Given the description of an element on the screen output the (x, y) to click on. 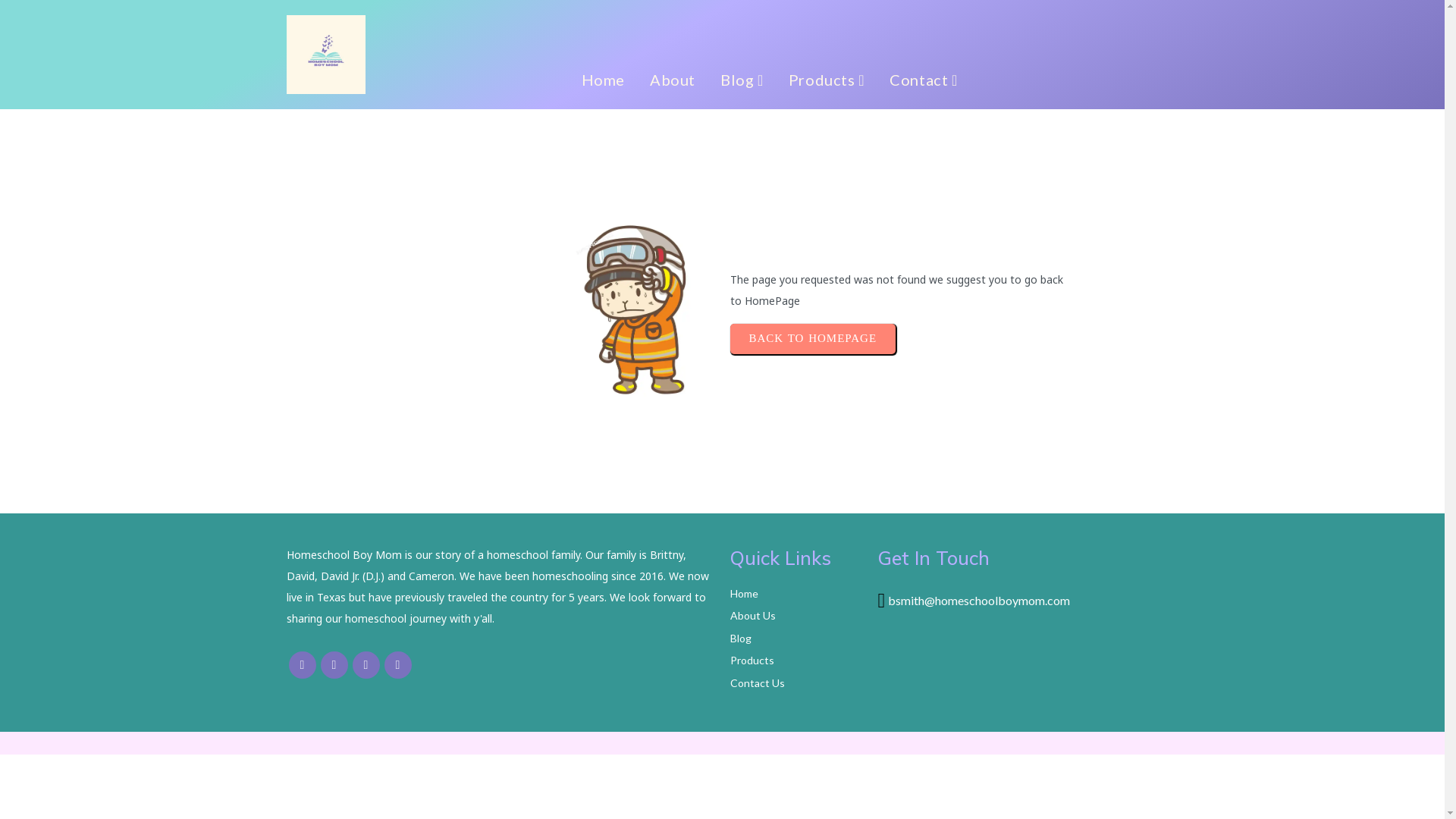
Home Element type: text (603, 79)
About Element type: text (672, 79)
Contact Us Element type: text (795, 682)
BACK TO HOMEPAGE Element type: text (812, 338)
Products Element type: text (826, 79)
Blog Element type: text (742, 79)
Products Element type: text (795, 660)
Contact Element type: text (923, 79)
Home Element type: text (795, 594)
About Us Element type: text (795, 616)
Homeschool Boy Mom Logo Element type: hover (325, 54)
bsmith@homeschoolboymom.com Element type: text (979, 601)
